Given the description of an element on the screen output the (x, y) to click on. 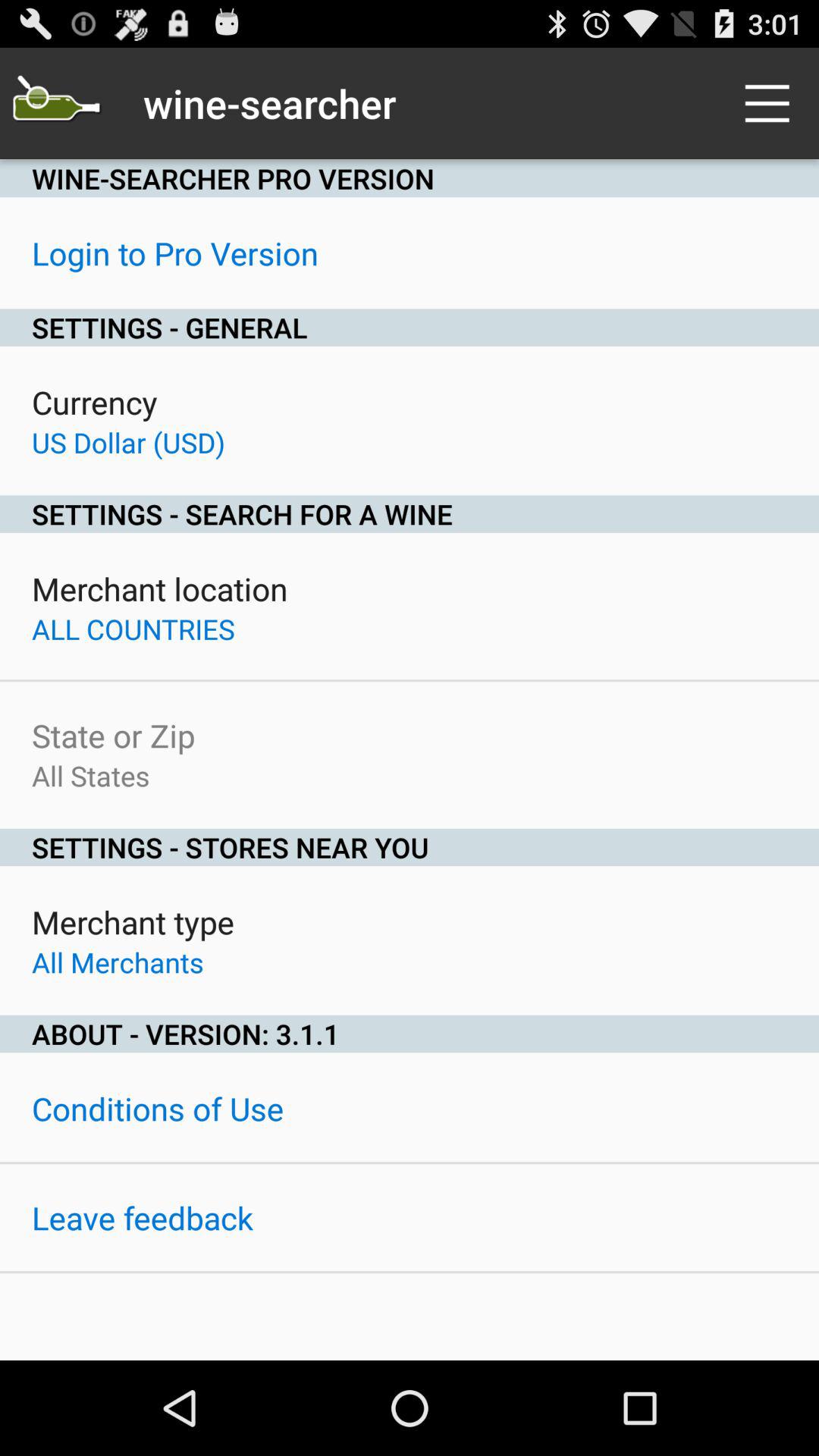
launch the leave feedback item (142, 1217)
